Given the description of an element on the screen output the (x, y) to click on. 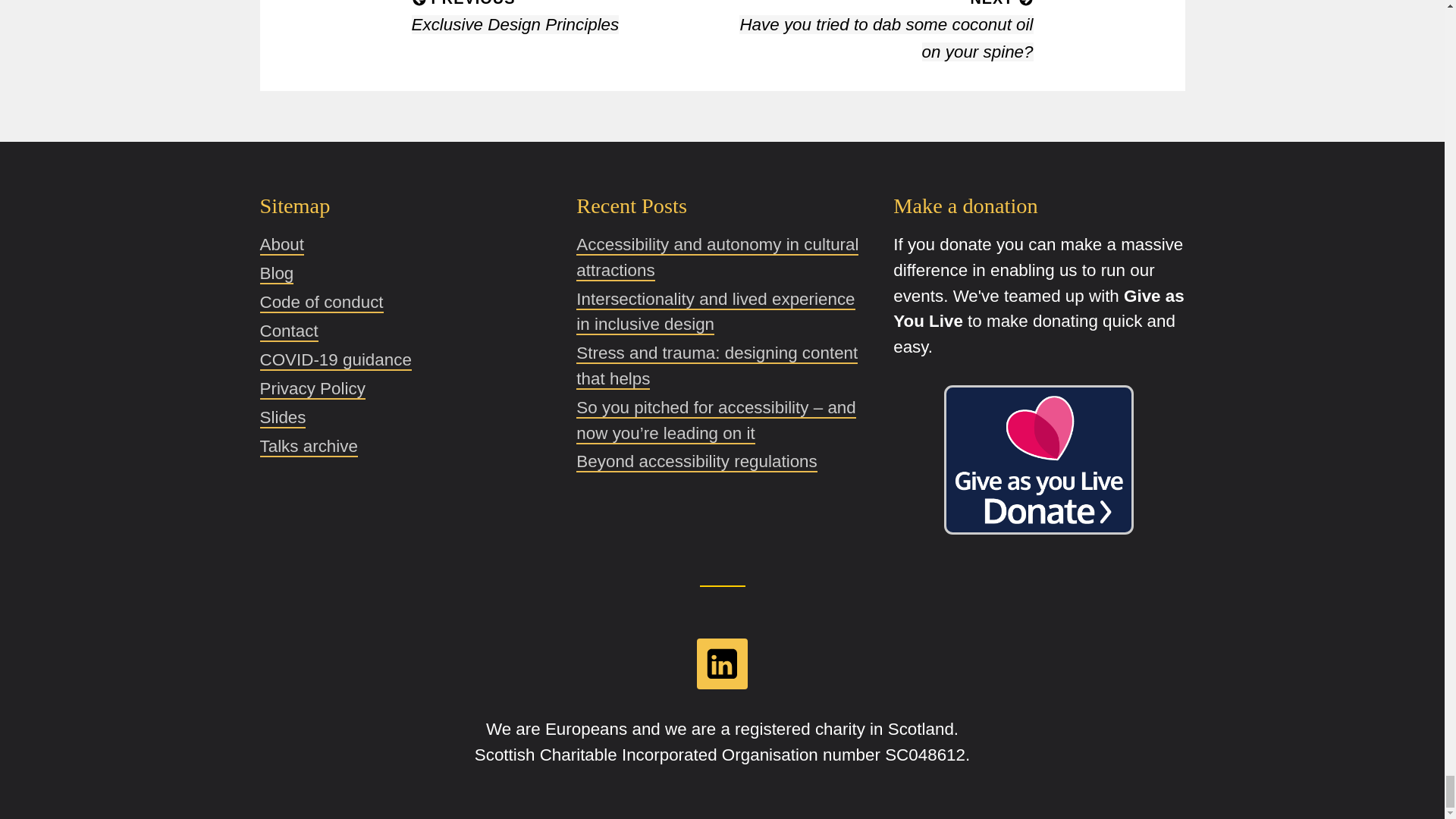
Code of conduct (320, 302)
Blog (276, 273)
Intersectionality and lived experience in inclusive design (715, 312)
About (281, 245)
COVID-19 guidance (334, 360)
Accessibility and autonomy in cultural attractions (717, 258)
Talks archive (307, 446)
Contact (566, 17)
